Given the description of an element on the screen output the (x, y) to click on. 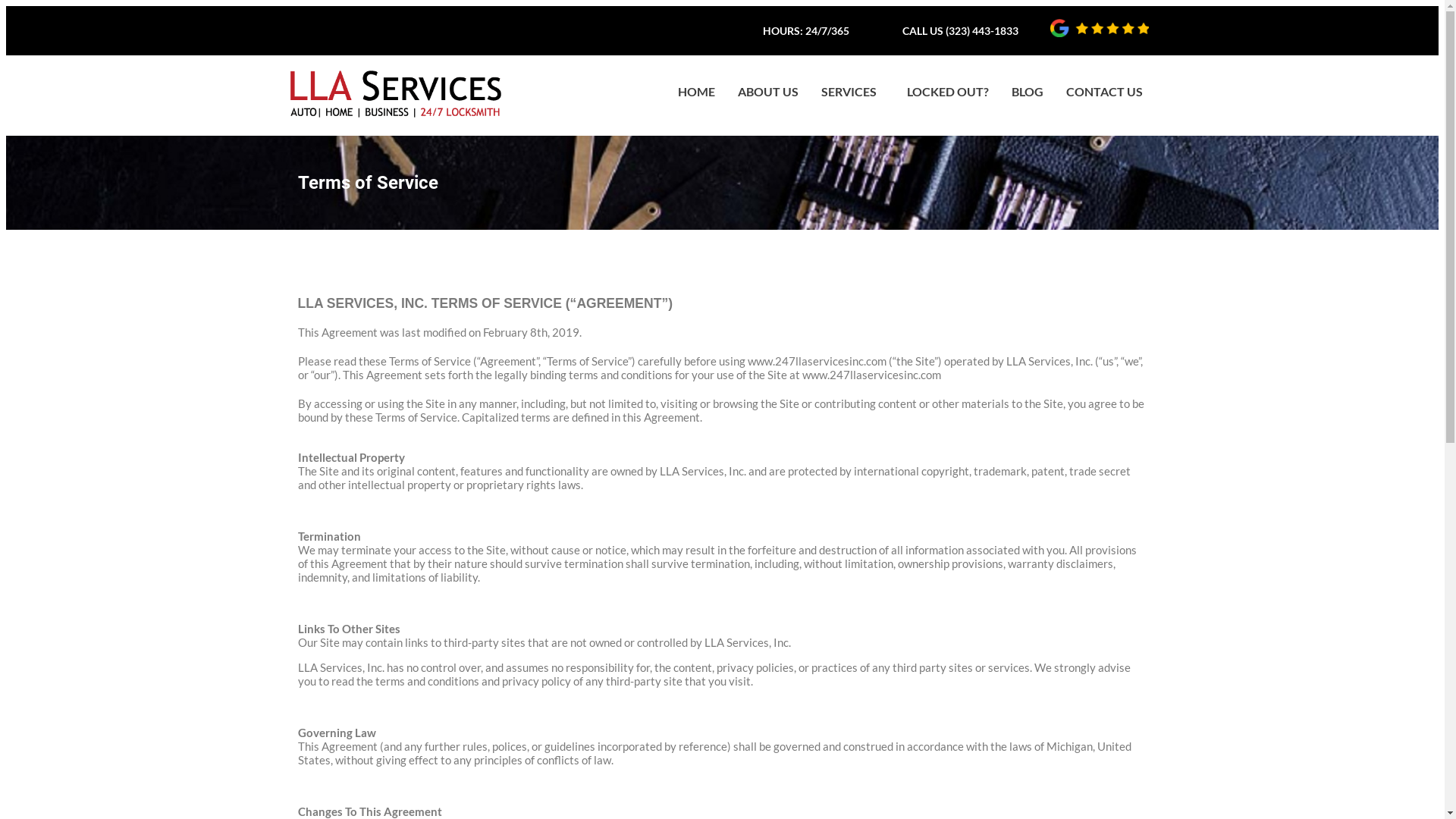
Review-g Element type: hover (1098, 27)
BLOG Element type: text (1027, 91)
CONTACT US Element type: text (1104, 91)
SERVICES Element type: text (852, 91)
CALL US (323) 443-1833 Element type: text (960, 30)
Terms of Service Element type: text (721, 182)
LOCKED OUT? Element type: text (947, 91)
HOME Element type: text (696, 91)
ABOUT US Element type: text (767, 91)
